Given the description of an element on the screen output the (x, y) to click on. 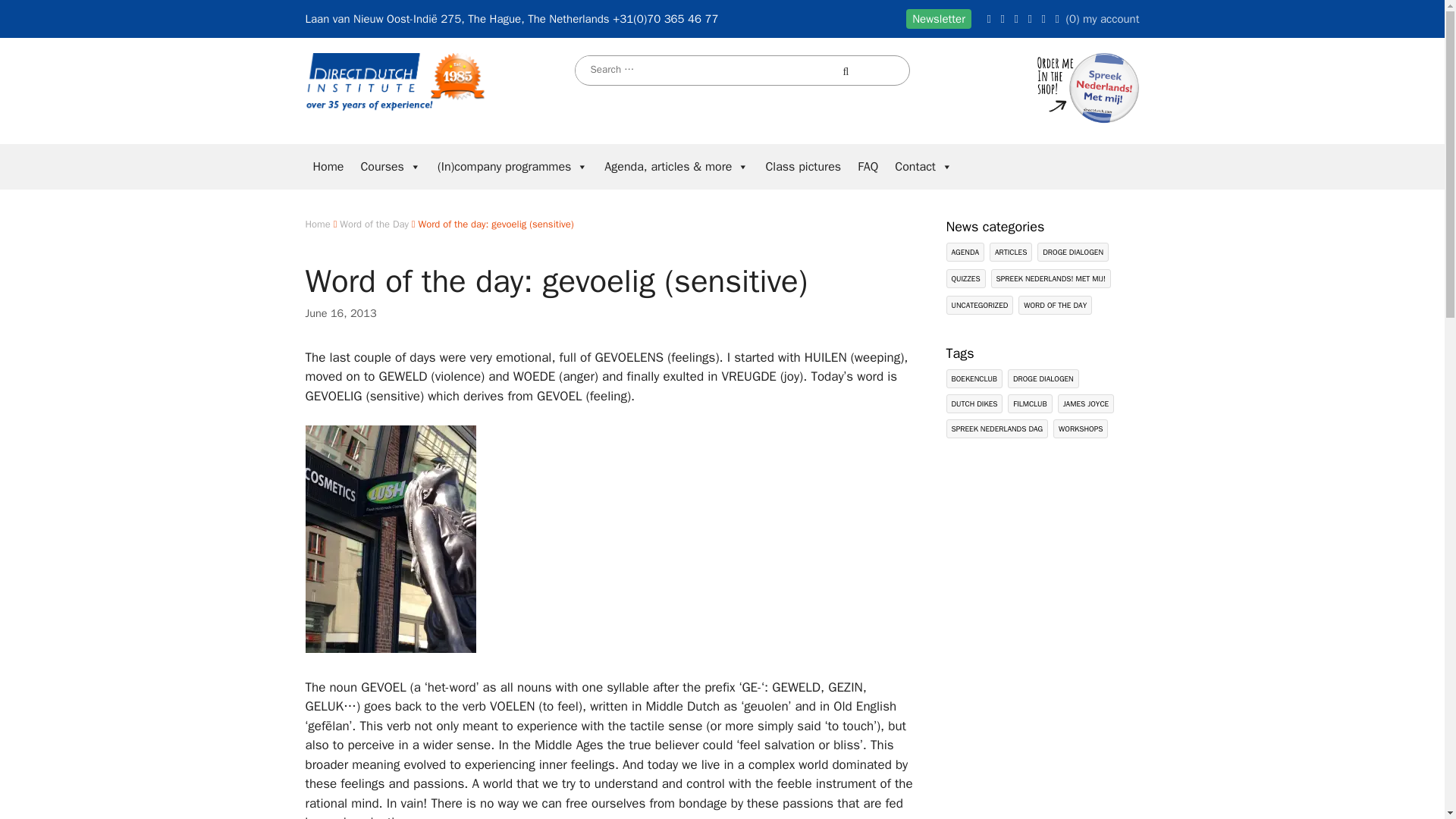
Search for: (708, 69)
Order our famous button here! (1085, 119)
Call us (664, 18)
my account (1111, 18)
Go to the Word of the Day category archives. (374, 223)
View your shopping cart (1066, 18)
Home (327, 166)
Newsletter (938, 18)
Go to Welcome to the Direct Dutch institute, The Hague.. (317, 223)
Courses (390, 166)
